Given the description of an element on the screen output the (x, y) to click on. 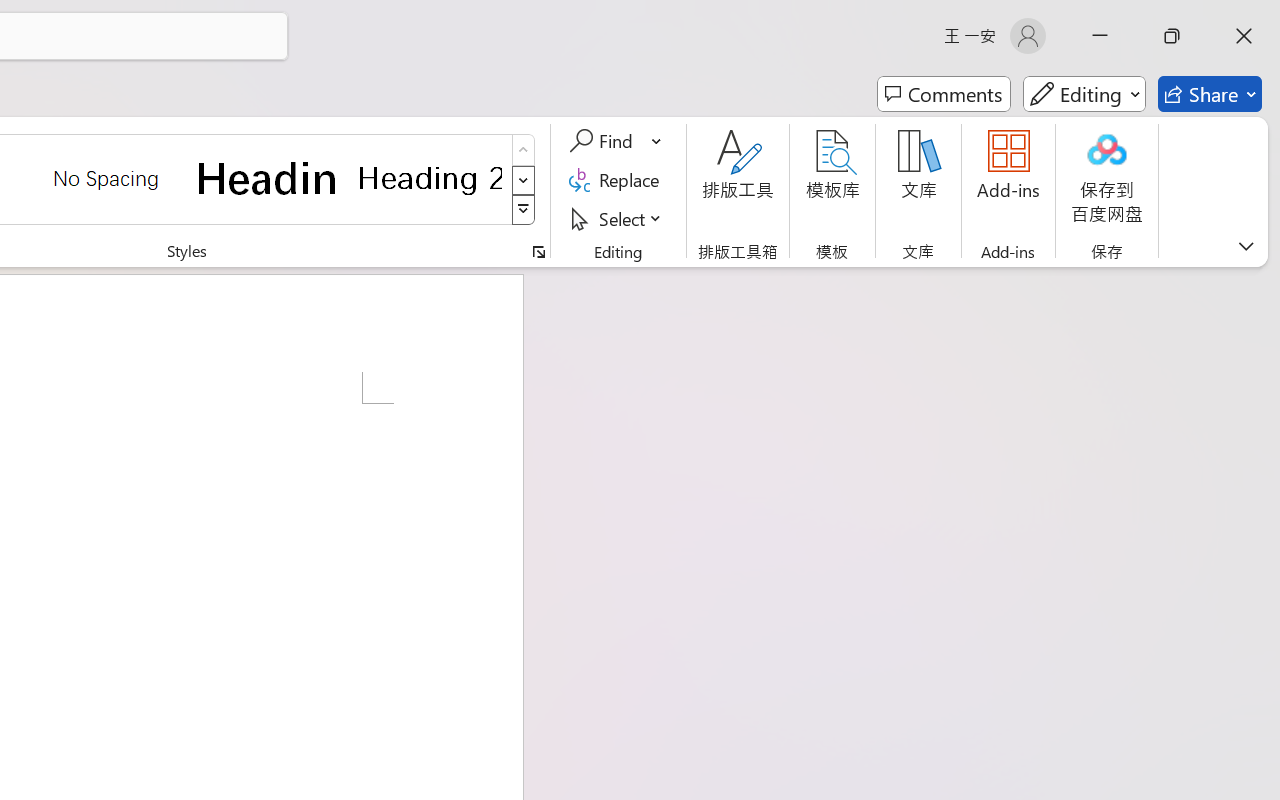
Styles (523, 209)
Styles... (538, 252)
